Given the description of an element on the screen output the (x, y) to click on. 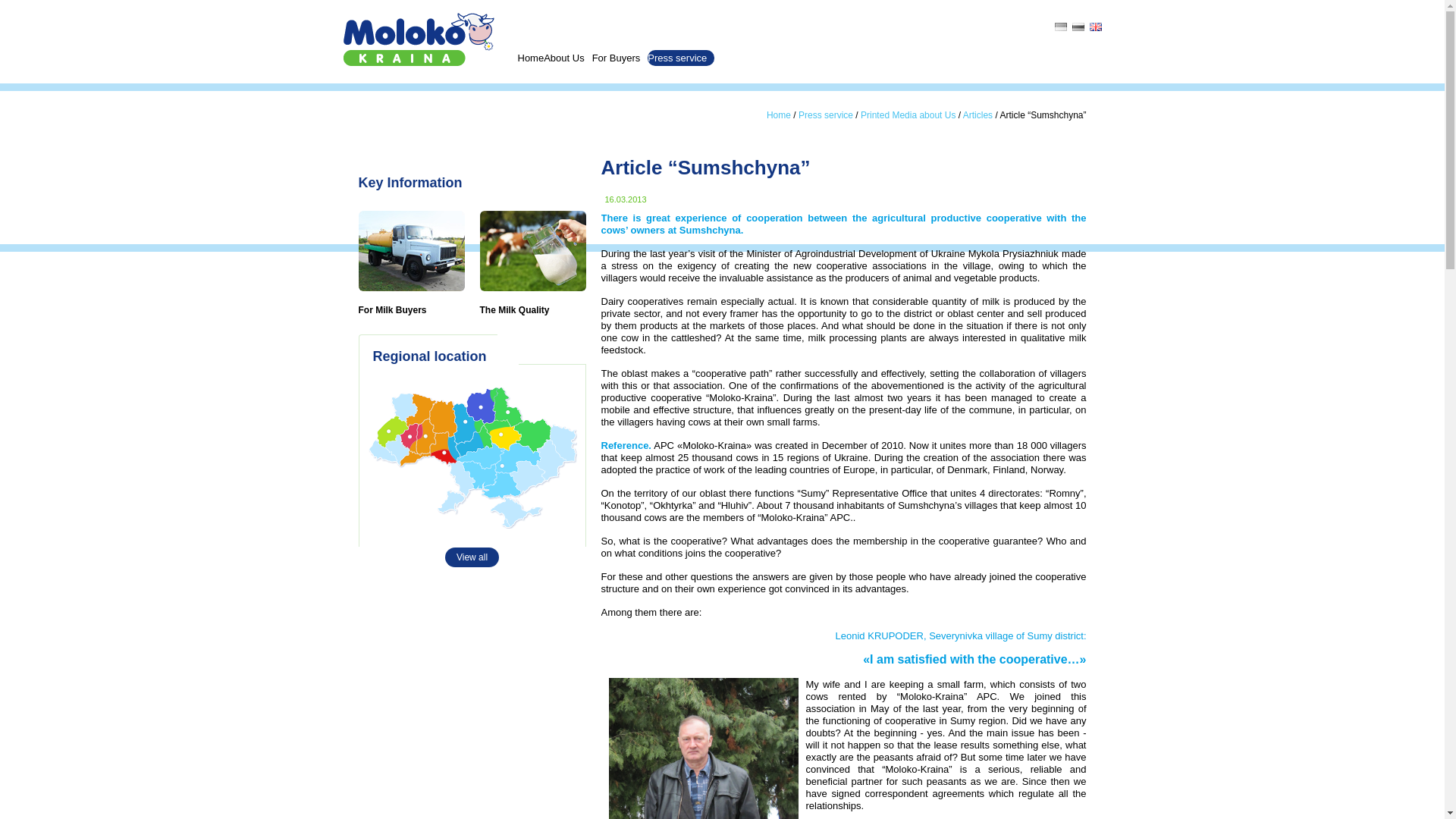
Home (778, 114)
Press service (825, 114)
Printed Media about Us (907, 114)
The Milk Quality (513, 309)
For Buyers (619, 57)
For Milk Buyers (392, 309)
View all (472, 457)
Home (529, 57)
Press service (680, 57)
Articles (977, 114)
